Given the description of an element on the screen output the (x, y) to click on. 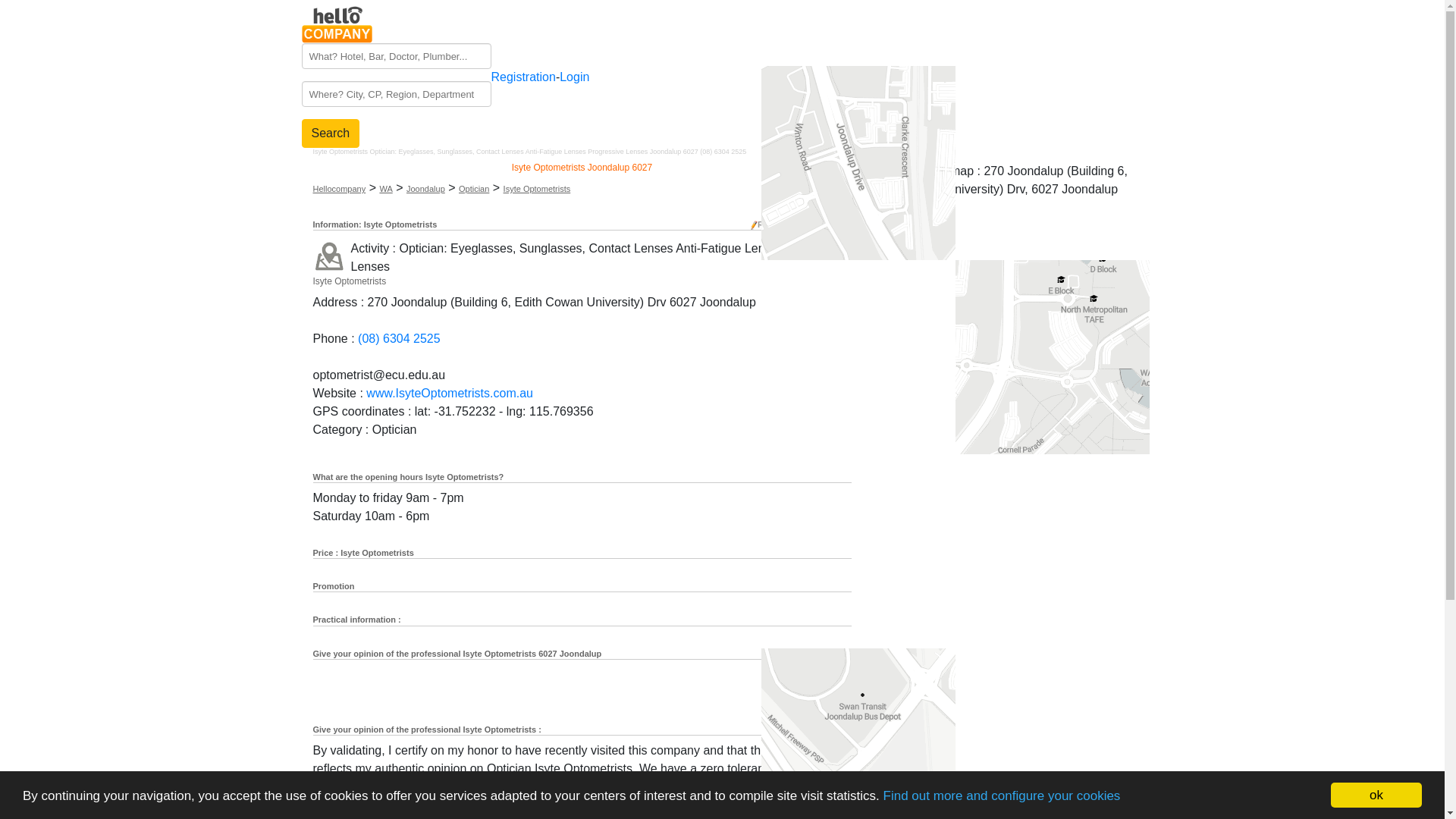
Isyte Optometrists Element type: text (537, 188)
Optician Element type: text (473, 188)
(08) 6304 2525 Element type: text (398, 338)
www.IsyteOptometrists.com.au Element type: text (449, 392)
ok Element type: text (1375, 794)
Hellocompany Element type: text (338, 188)
Report abuse / Edit info Element type: text (803, 224)
WA Element type: text (385, 188)
Joondalup Element type: text (425, 188)
Search Element type: text (330, 133)
Find out more and configure your cookies Element type: text (1001, 795)
Registration Element type: text (523, 77)
Login Element type: text (574, 77)
Advertisement Element type: hover (1002, 504)
